Given the description of an element on the screen output the (x, y) to click on. 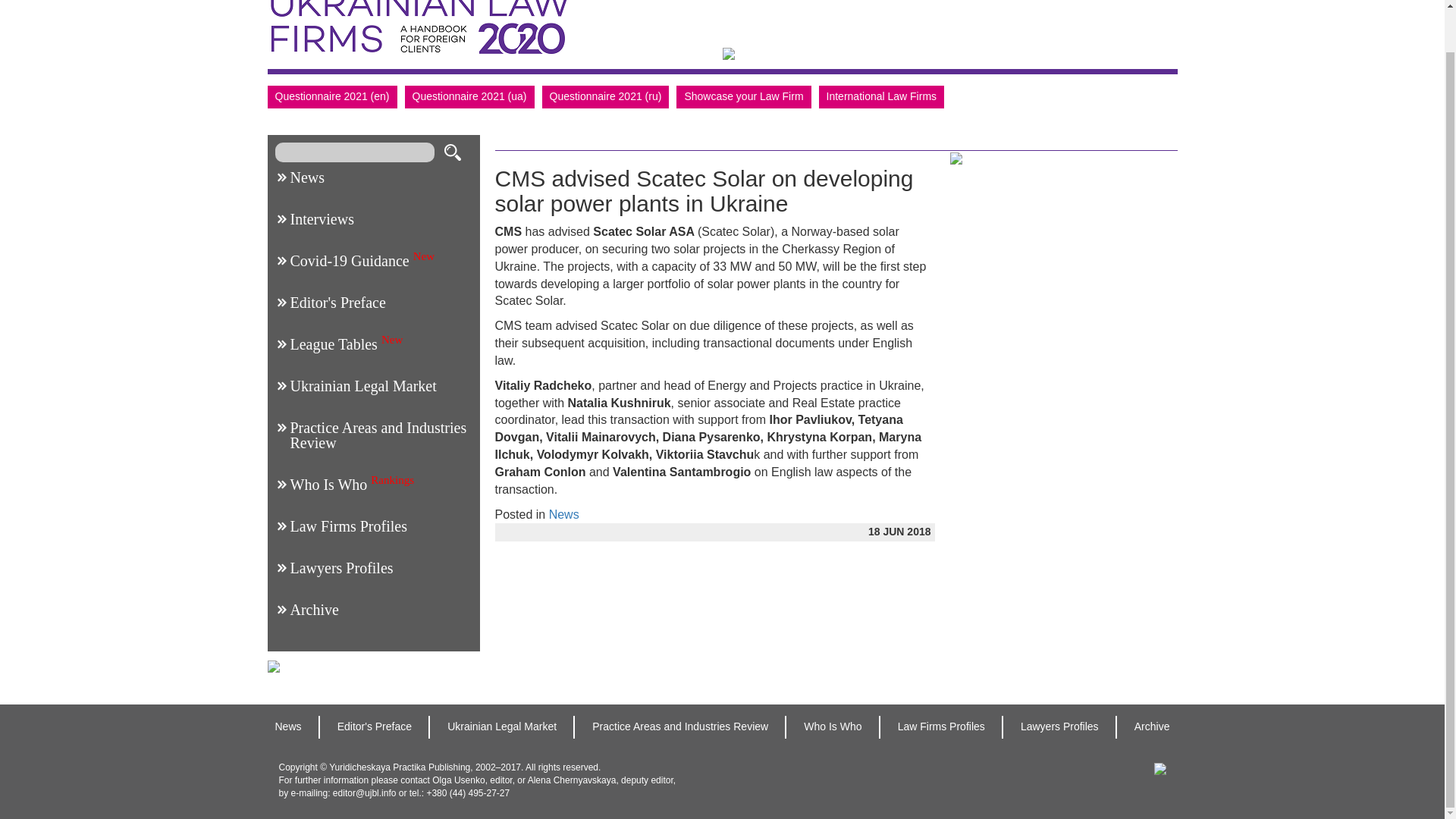
Covid-19 Guidance (349, 260)
Interviews (321, 218)
International Law Firms (881, 96)
Practice Areas and Industries Review (377, 435)
Ukrainian Legal Market (362, 385)
Editor's Preface (337, 302)
Showcase your Law Firm (743, 96)
News (306, 176)
League Tables (333, 343)
